Given the description of an element on the screen output the (x, y) to click on. 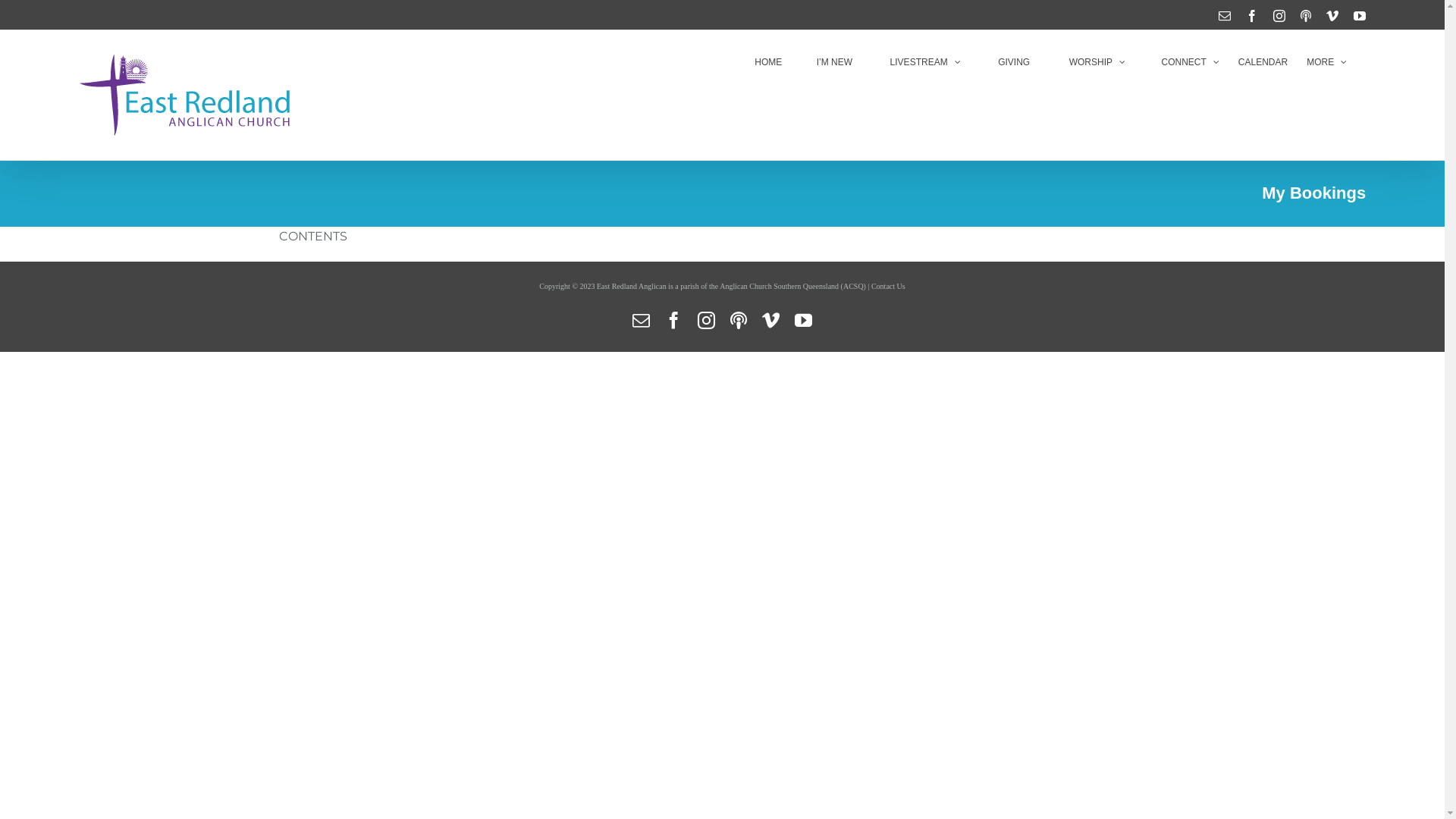
Instagram Element type: text (1279, 15)
Instagram Element type: text (706, 320)
Vimeo Element type: text (770, 320)
Vimeo Element type: text (1332, 15)
Contact Us Element type: text (888, 286)
MORE Element type: text (1326, 62)
WORSHIP Element type: text (1086, 62)
YouTube Element type: text (1359, 15)
CONNECT Element type: text (1181, 62)
Email Element type: text (1224, 15)
GIVING Element type: text (1004, 62)
Email Element type: text (640, 320)
Podcasts Element type: text (738, 315)
Facebook Element type: text (673, 320)
Facebook Element type: text (1251, 15)
LIVESTREAM Element type: text (915, 62)
CALENDAR Element type: text (1262, 62)
HOME Element type: text (767, 62)
Podcasts Element type: text (1305, 15)
Anglican Church Southern Queensland Element type: text (778, 286)
YouTube Element type: text (803, 320)
